Given the description of an element on the screen output the (x, y) to click on. 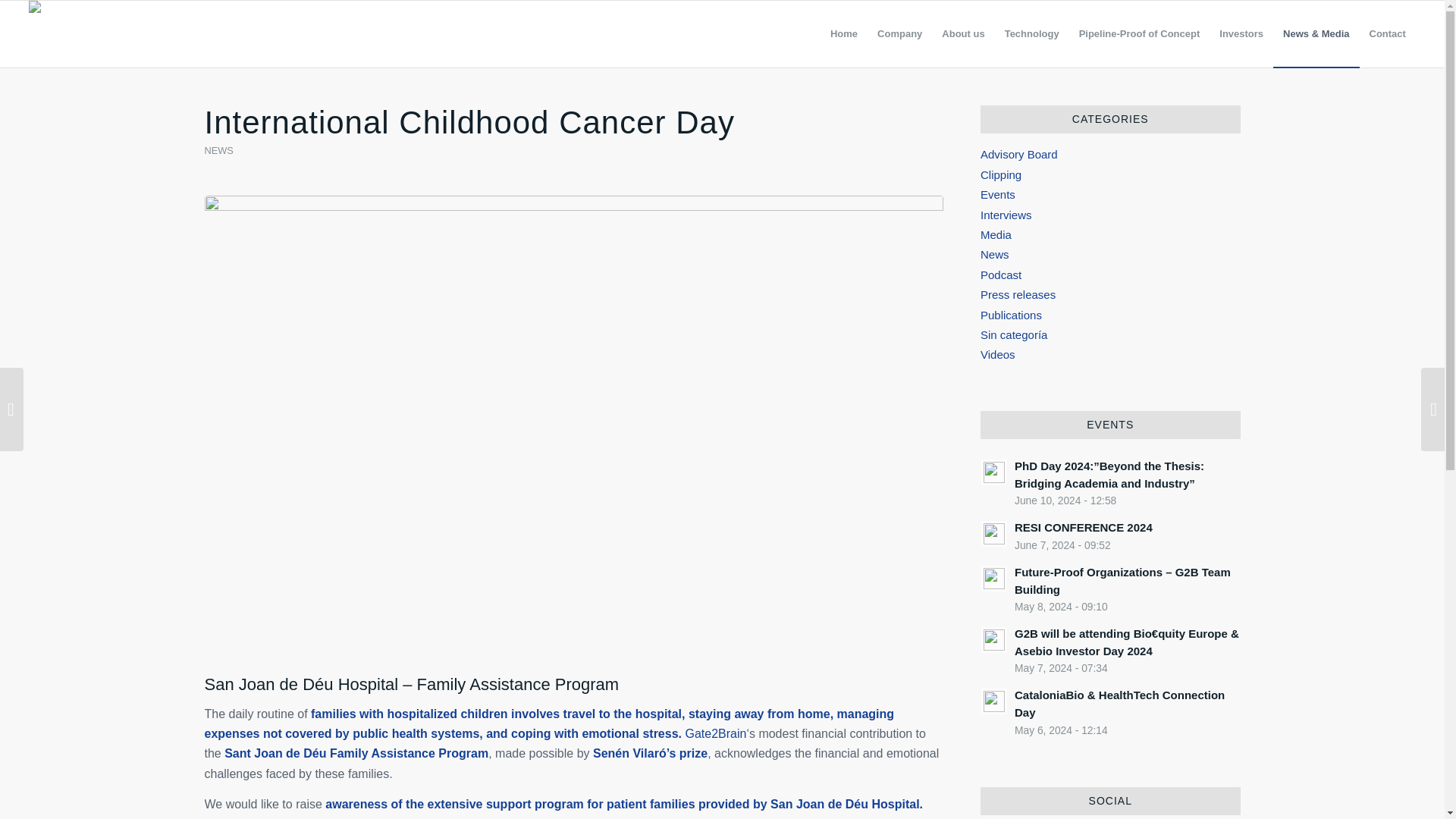
Press releases (1017, 294)
Podcast (1000, 274)
Events (996, 194)
Gate2Brain (714, 733)
Clipping (1000, 174)
Publications (1010, 314)
Videos (996, 354)
About us (962, 33)
Company (1109, 534)
Pipeline-Proof of Concept (899, 33)
Investors (1138, 33)
RESI CONFERENCE 2024 (1240, 33)
Family Assistance Program. (1109, 534)
